Given the description of an element on the screen output the (x, y) to click on. 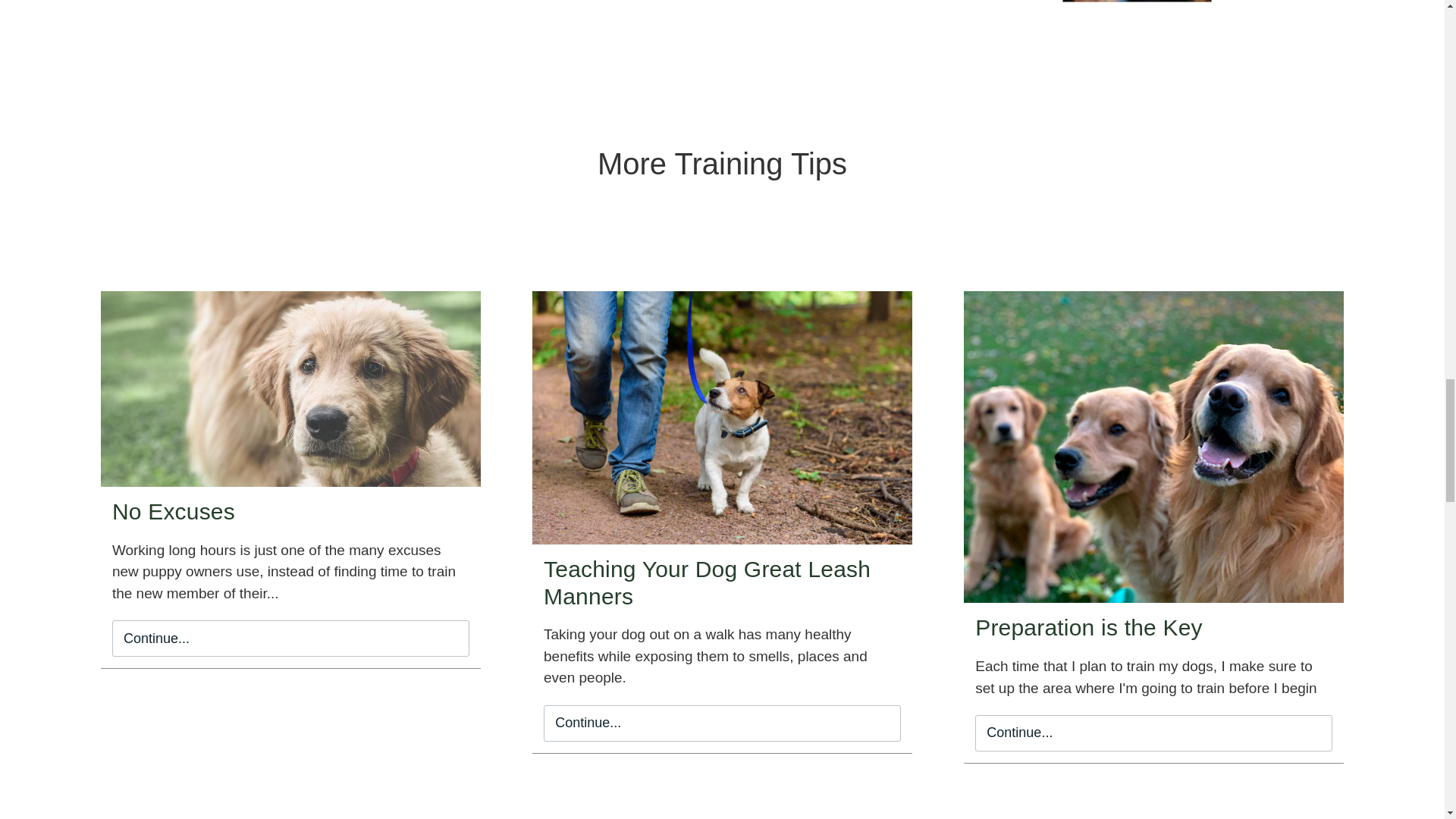
Preparation is the Key (1088, 627)
No Excuses (173, 511)
Continue... (290, 637)
No Excuses (173, 511)
Continue... (722, 723)
Preparation is the Key (1088, 627)
Teaching Your Dog Great Leash Manners (706, 582)
Continue... (1153, 732)
Teaching Your Dog Great Leash Manners (706, 582)
